Given the description of an element on the screen output the (x, y) to click on. 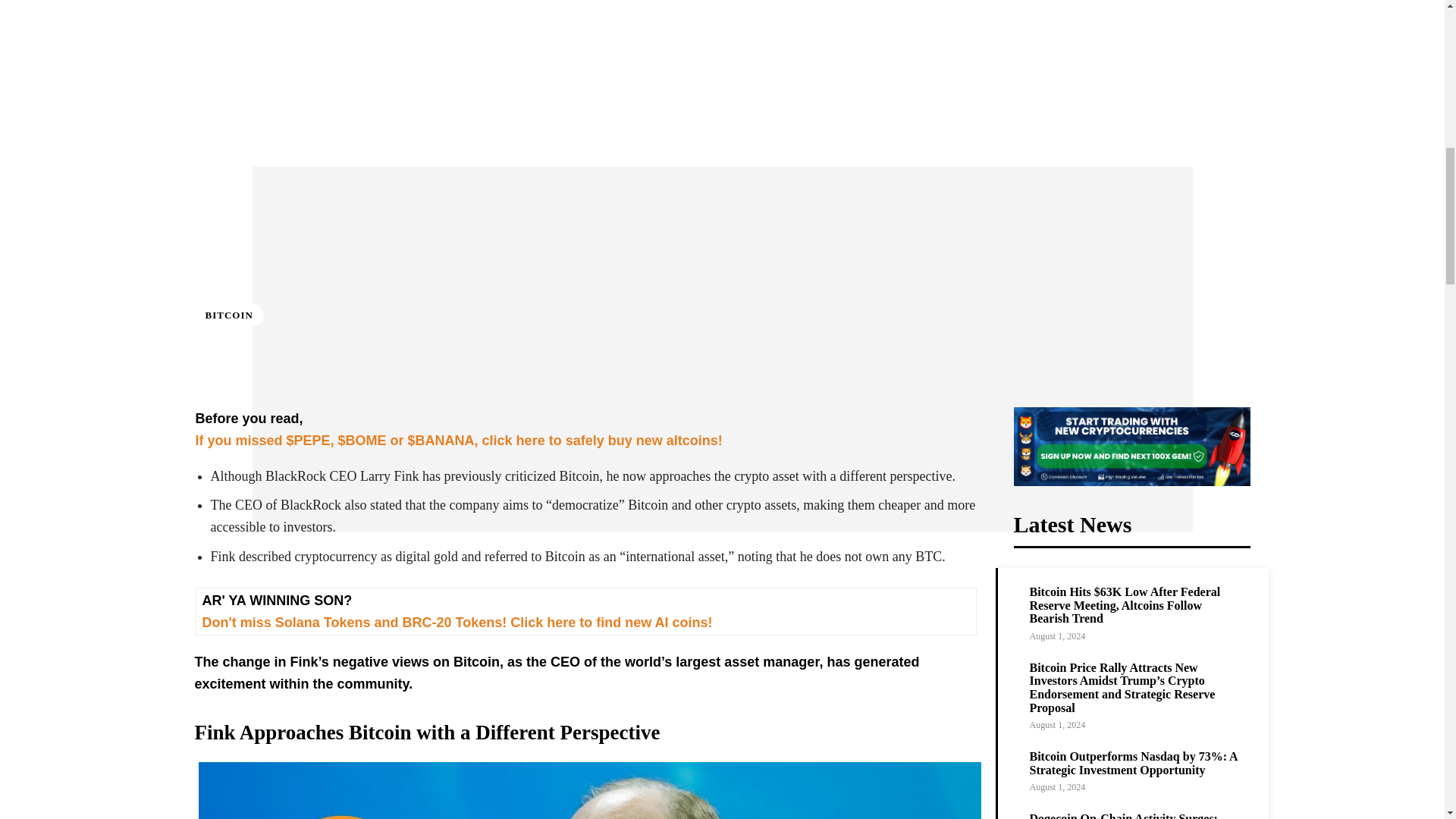
BITCOIN (228, 314)
